Given the description of an element on the screen output the (x, y) to click on. 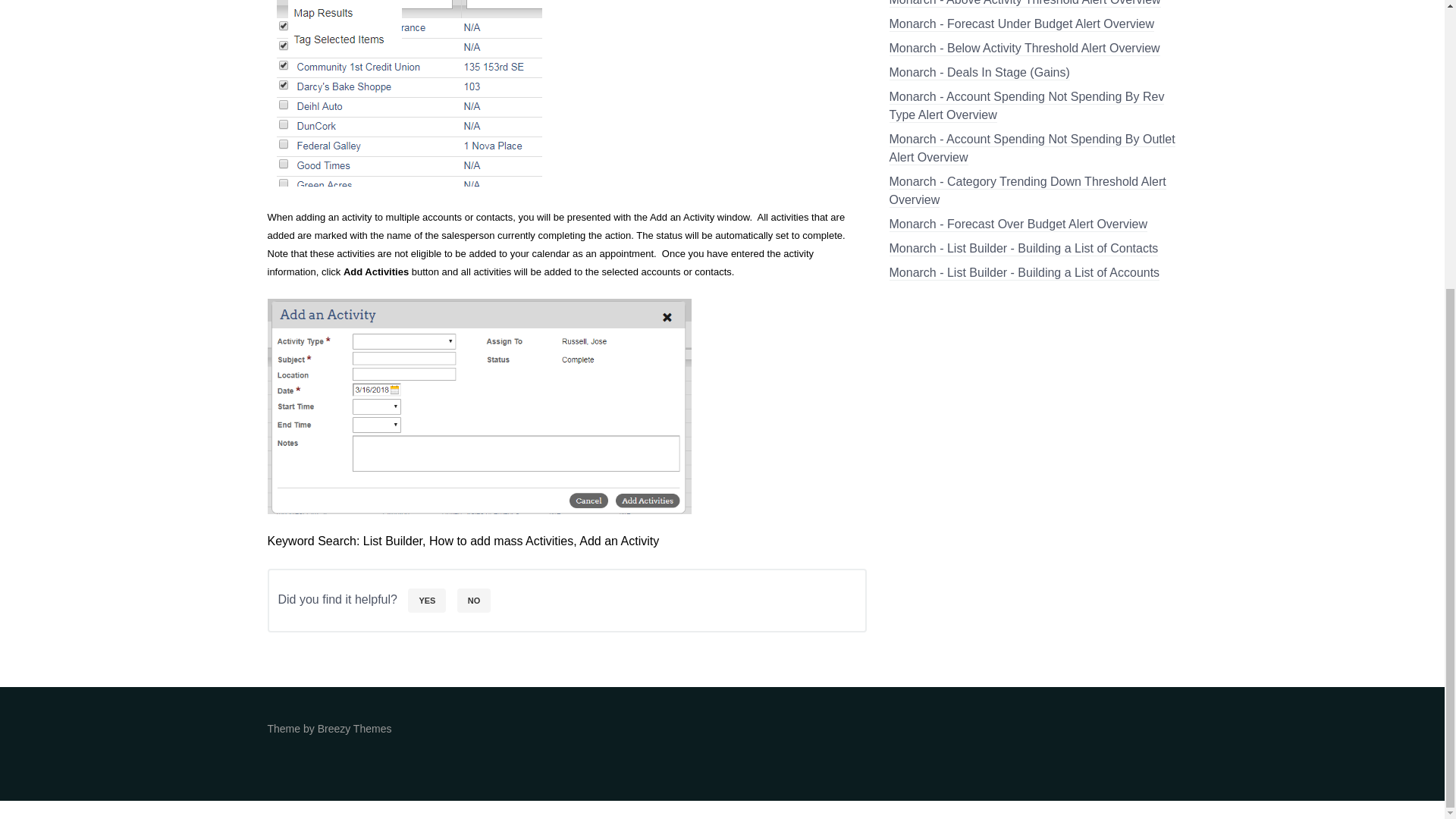
Breezy Themes (354, 728)
Monarch - Above Activity Threshold Alert Overview (1024, 3)
Monarch - List Builder - Building a List of Contacts (1022, 248)
Monarch - List Builder - Building a List of Accounts (1023, 273)
Monarch - Below Activity Threshold Alert Overview (1023, 48)
Monarch - Forecast Over Budget Alert Overview (1017, 224)
Monarch - Forecast Under Budget Alert Overview (1020, 24)
Monarch - Category Trending Down Threshold Alert Overview (1027, 191)
